Given the description of an element on the screen output the (x, y) to click on. 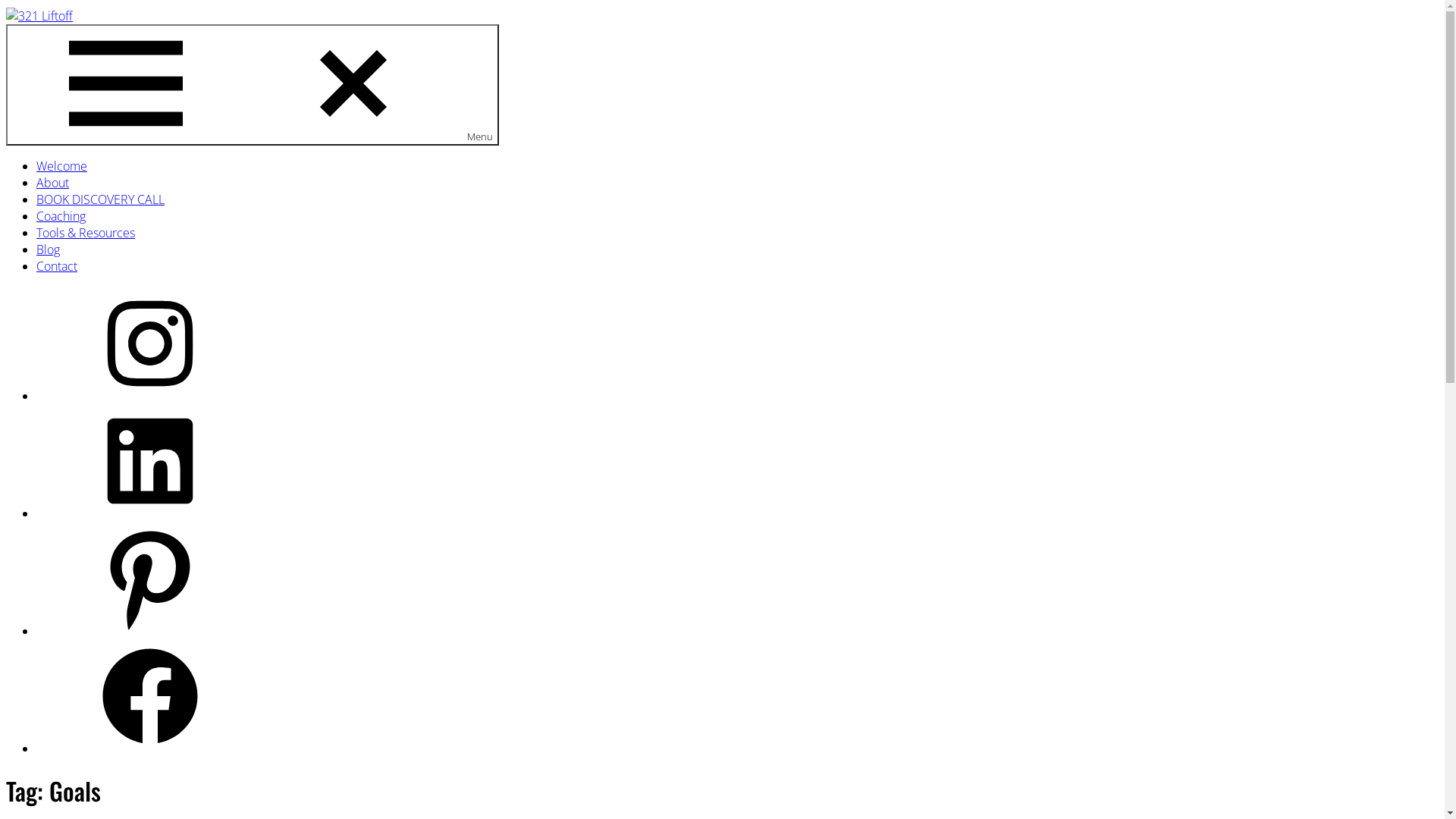
BOOK DISCOVERY CALL Element type: text (100, 199)
321 Liftoff Element type: text (29, 45)
Menu Element type: text (252, 84)
Contact Element type: text (56, 265)
Coaching Element type: text (60, 215)
Pinterest Element type: text (149, 630)
Skip to content Element type: text (5, 5)
Instagram Element type: text (149, 395)
Tools & Resources Element type: text (85, 232)
LinkedIn Element type: text (149, 513)
About Element type: text (52, 182)
Facebook Element type: text (149, 748)
Welcome Element type: text (61, 165)
Blog Element type: text (47, 249)
